Given the description of an element on the screen output the (x, y) to click on. 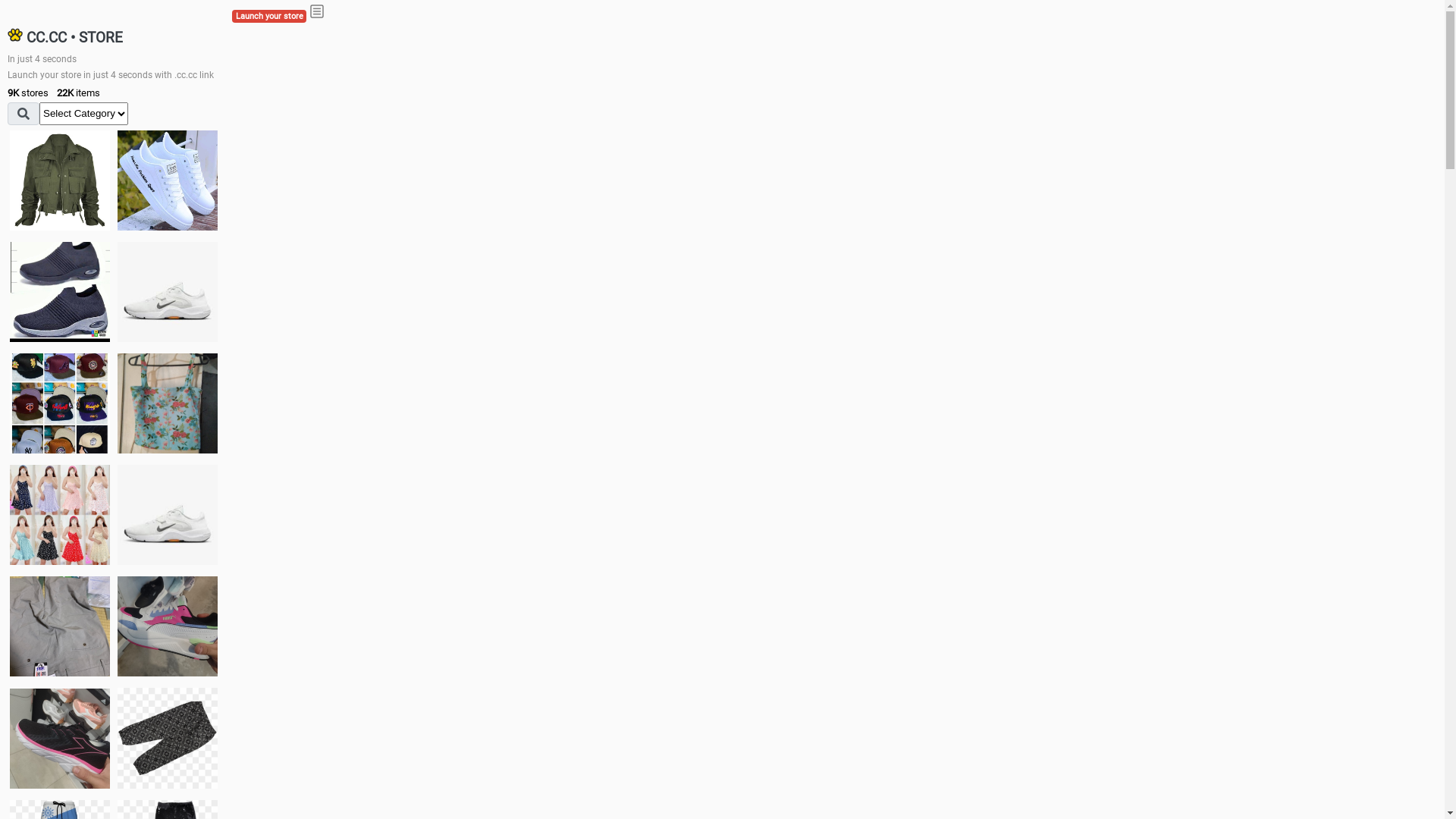
Things we need Element type: hover (59, 403)
Shoes Element type: hover (167, 514)
Launch your store Element type: text (269, 15)
shoes for boys Element type: hover (59, 291)
Ukay cloth Element type: hover (167, 403)
white shoes Element type: hover (167, 180)
Dress/square nect top Element type: hover (59, 514)
Zapatillas Element type: hover (59, 738)
Shoes for boys Element type: hover (167, 291)
jacket Element type: hover (59, 180)
Short pant Element type: hover (167, 737)
Zapatillas pumas Element type: hover (167, 626)
